Given the description of an element on the screen output the (x, y) to click on. 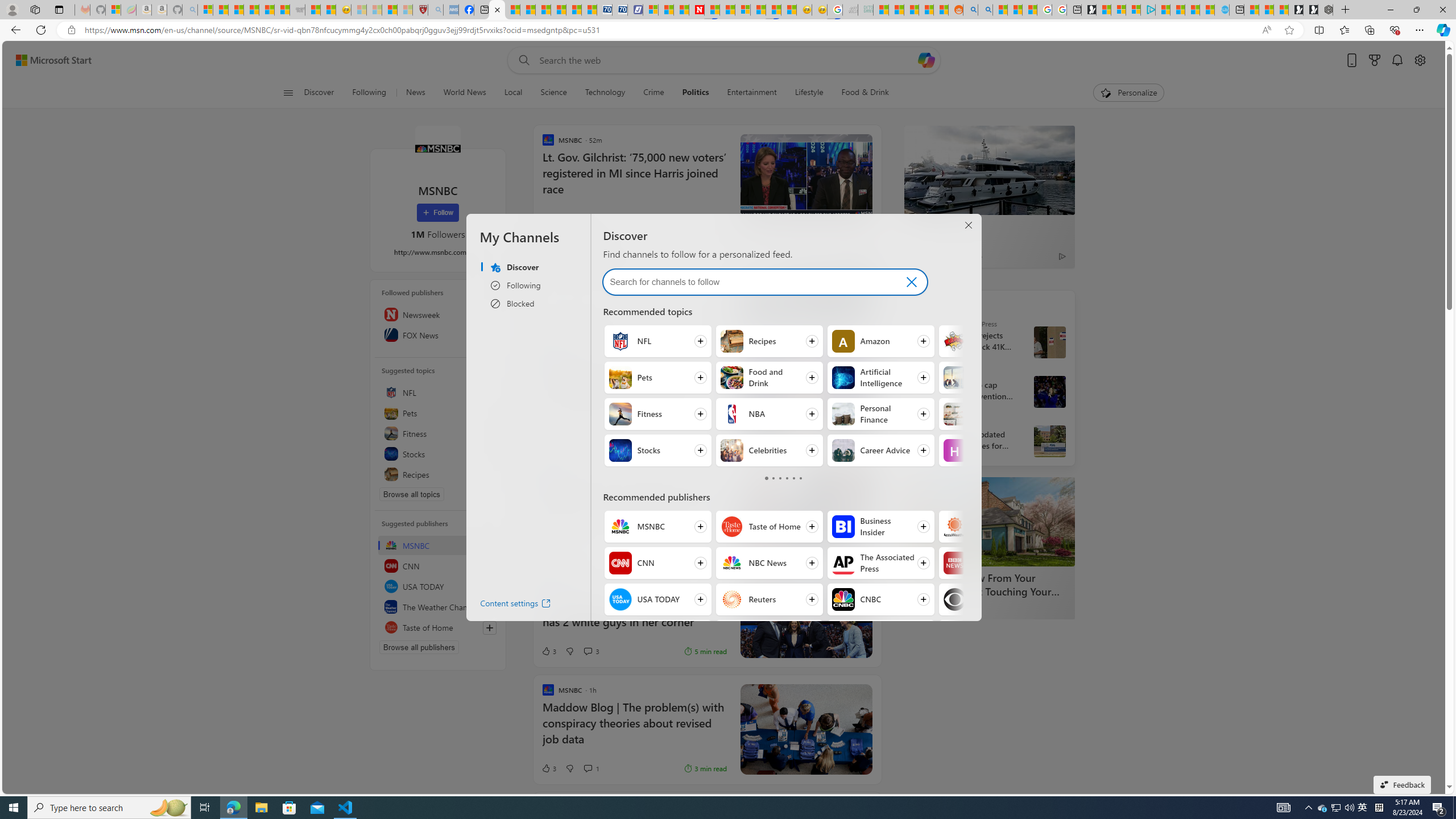
3 Like (547, 768)
Follow Stocks (657, 450)
TOP (916, 302)
Science - MSN (389, 9)
Play Free Online Games | Games from Microsoft Start (1310, 9)
Follow CNN (657, 563)
Follow this topic (489, 474)
Entertainment (751, 92)
Newsweek (437, 314)
Crime (653, 92)
Lifestyle (809, 92)
Lifestyle (808, 92)
